Given the description of an element on the screen output the (x, y) to click on. 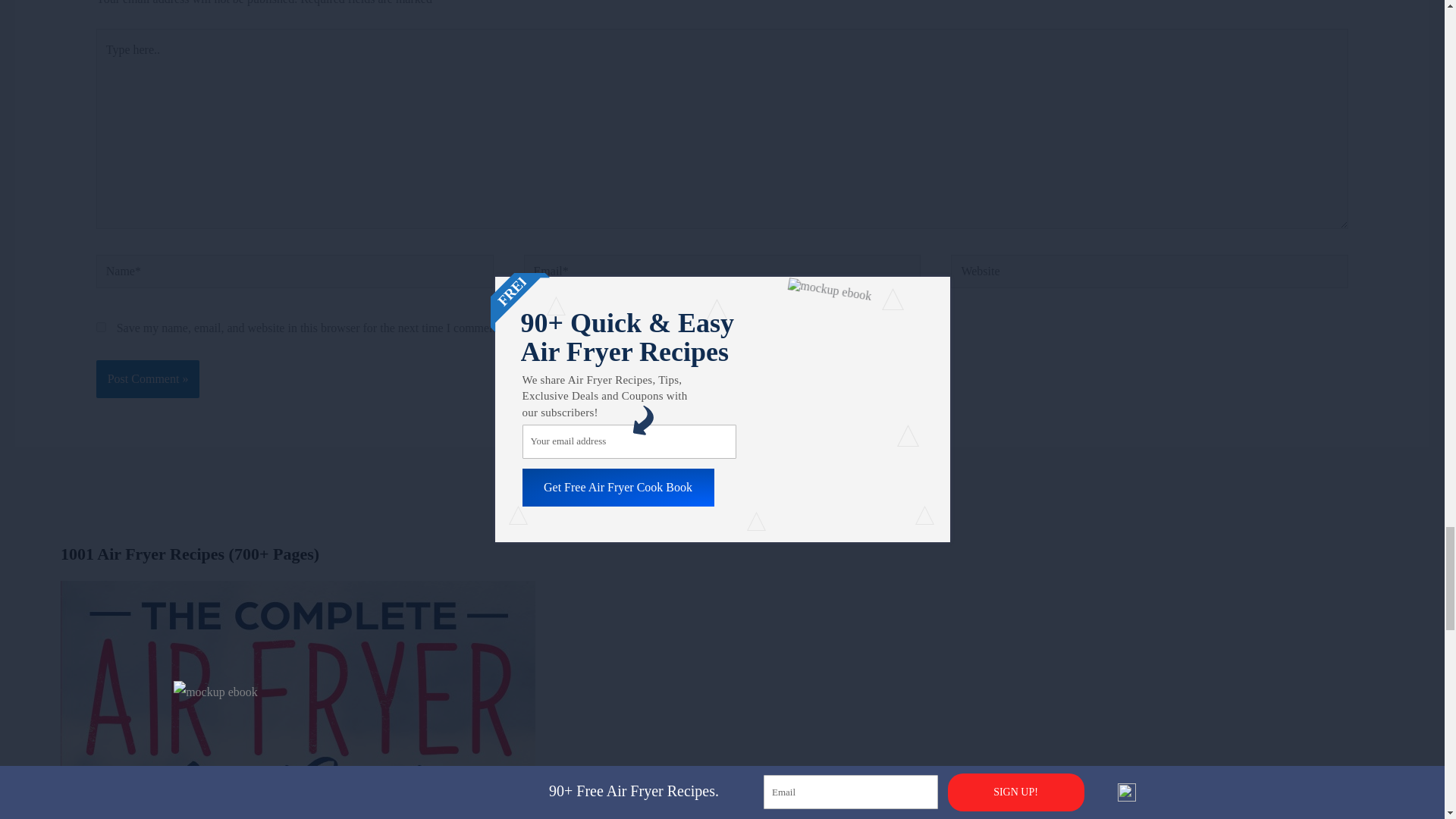
yes (101, 327)
